Given the description of an element on the screen output the (x, y) to click on. 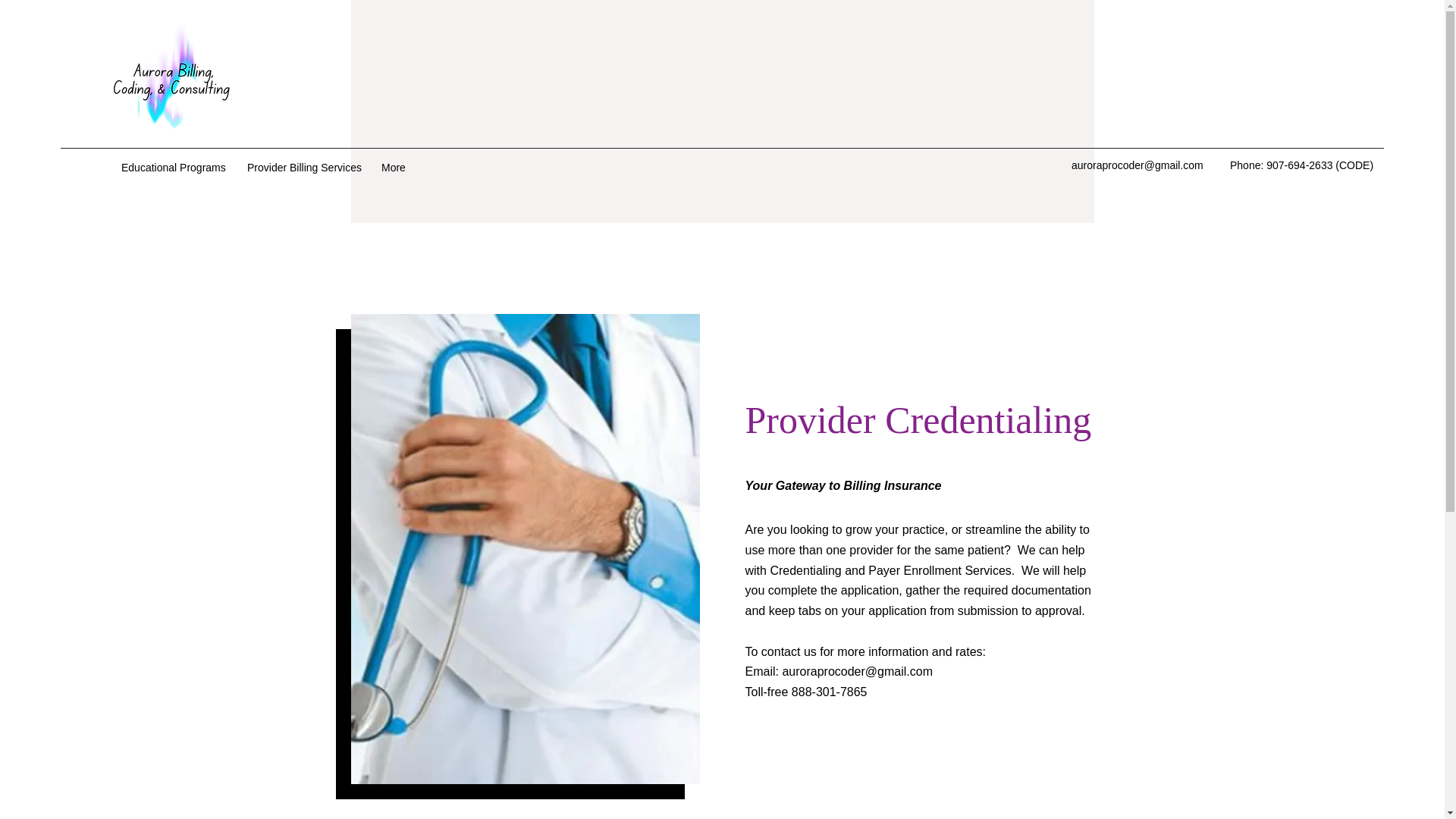
Provider Billing Services (307, 167)
Educational Programs (176, 167)
